Given the description of an element on the screen output the (x, y) to click on. 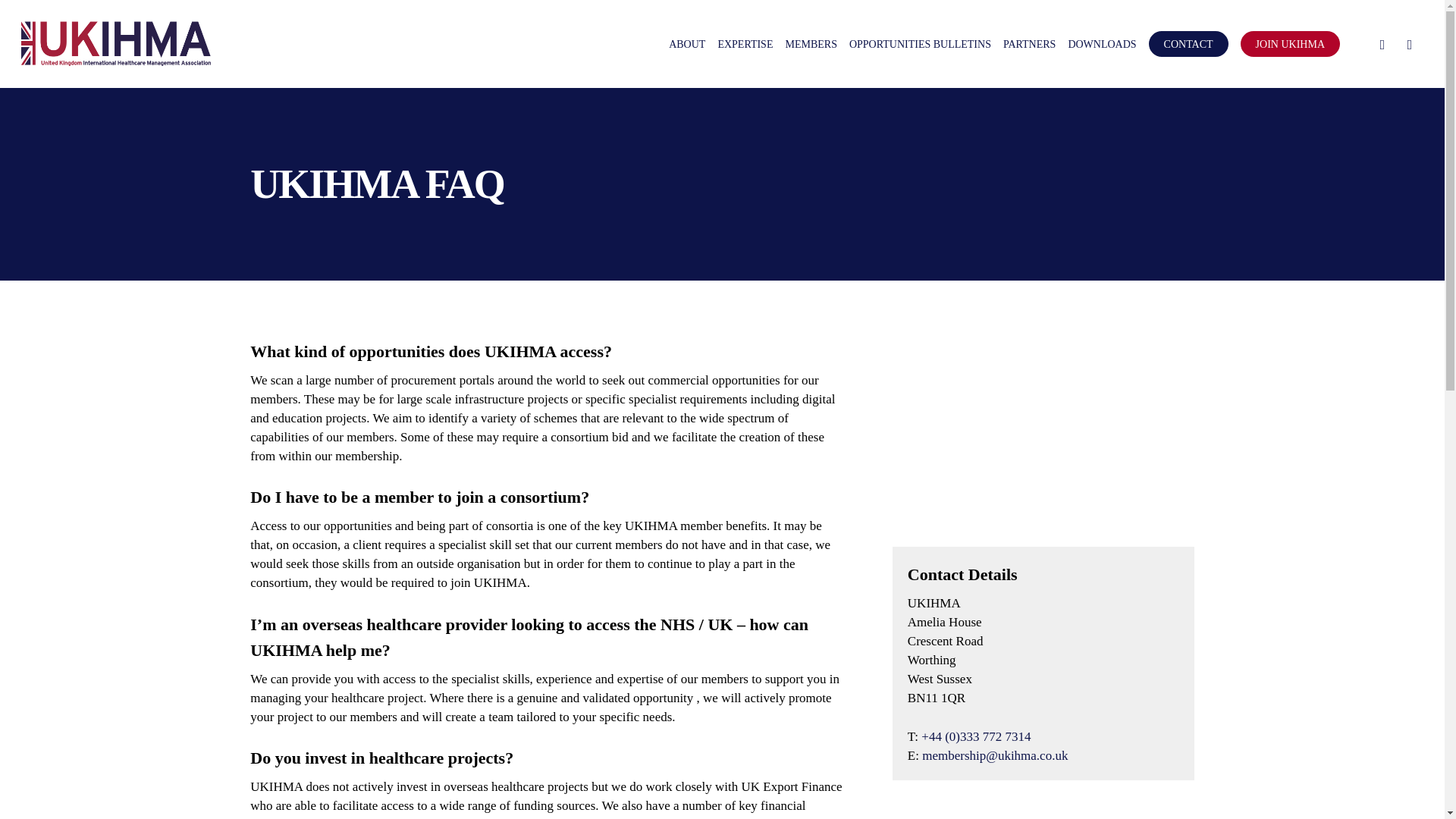
EXPERTISE (744, 43)
LINKEDIN (1409, 44)
JOIN UKIHMA (1289, 43)
TWITTER (1382, 44)
ABOUT (686, 43)
DOWNLOADS (1101, 43)
CONTACT (1188, 43)
MEMBERS (810, 43)
OPPORTUNITIES BULLETINS (920, 43)
PARTNERS (1029, 43)
